Given the description of an element on the screen output the (x, y) to click on. 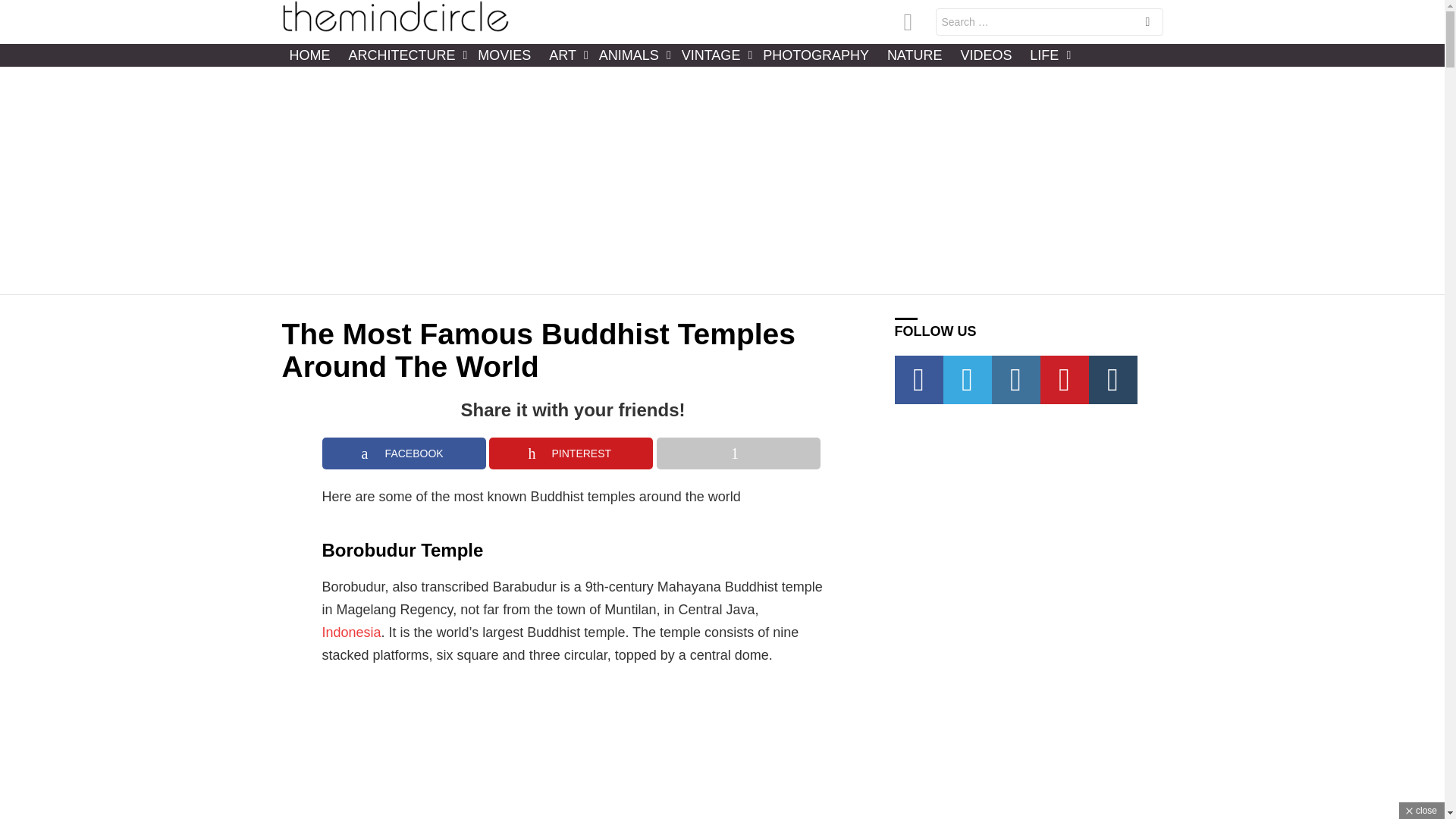
SEARCH (1146, 23)
Share on Pinterest (570, 453)
LIFE (1046, 55)
NATURE (914, 55)
PINTEREST (570, 453)
HOME (309, 55)
ART (564, 55)
MOVIES (504, 55)
Share on Facebook (403, 453)
VIDEOS (985, 55)
